Given the description of an element on the screen output the (x, y) to click on. 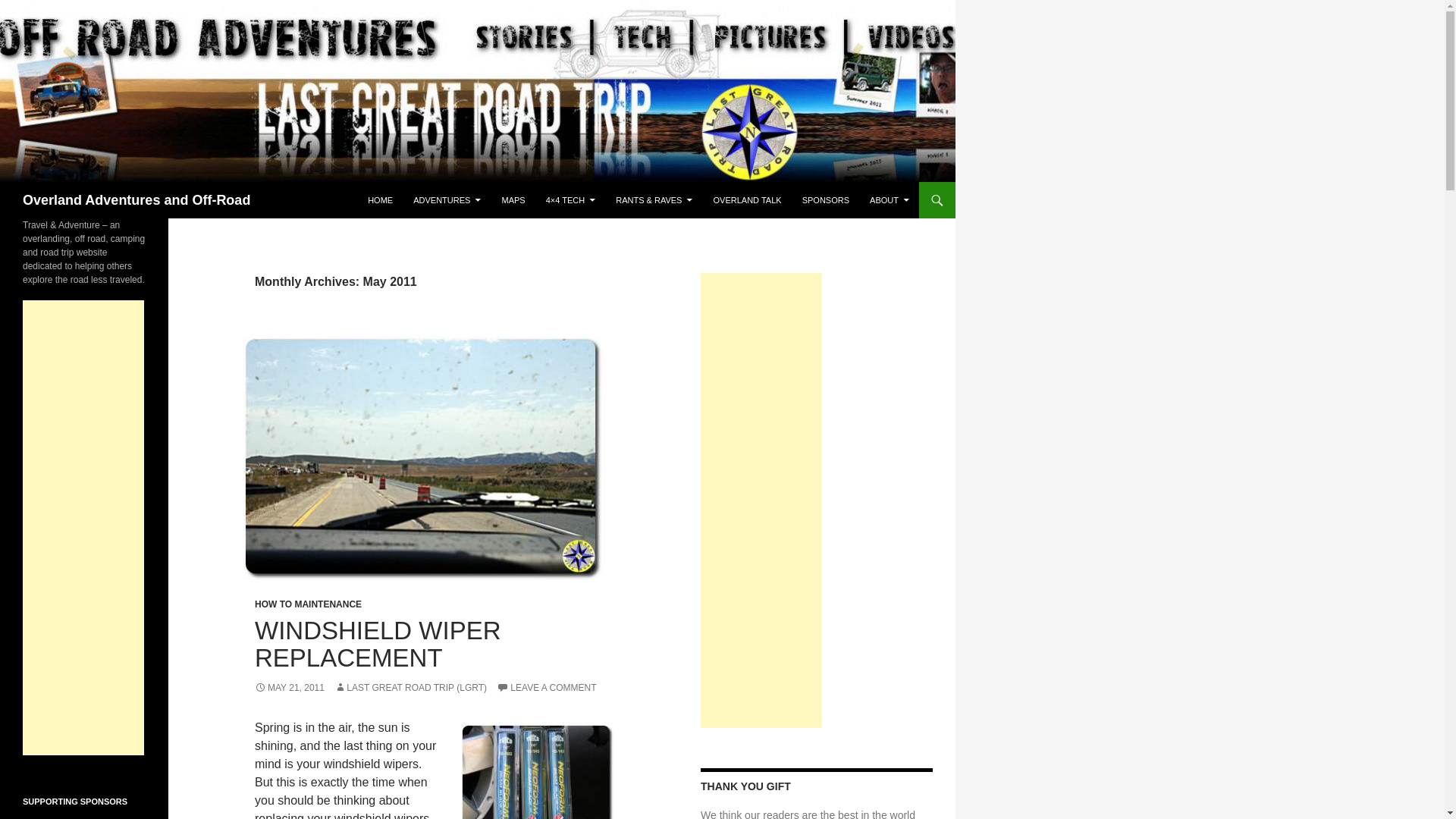
HOME (379, 199)
LEAVE A COMMENT (545, 687)
Overland Adventures and Off-Road (136, 199)
WINDSHIELD WIPER REPLACEMENT (377, 643)
off-road adventures (446, 199)
trico Neofoam wipers (537, 771)
SPONSORS (826, 199)
HOW TO MAINTENANCE (307, 603)
ABOUT (889, 199)
OVERLAND TALK (747, 199)
MAPS (513, 199)
ADVENTURES (446, 199)
MAY 21, 2011 (289, 687)
